Given the description of an element on the screen output the (x, y) to click on. 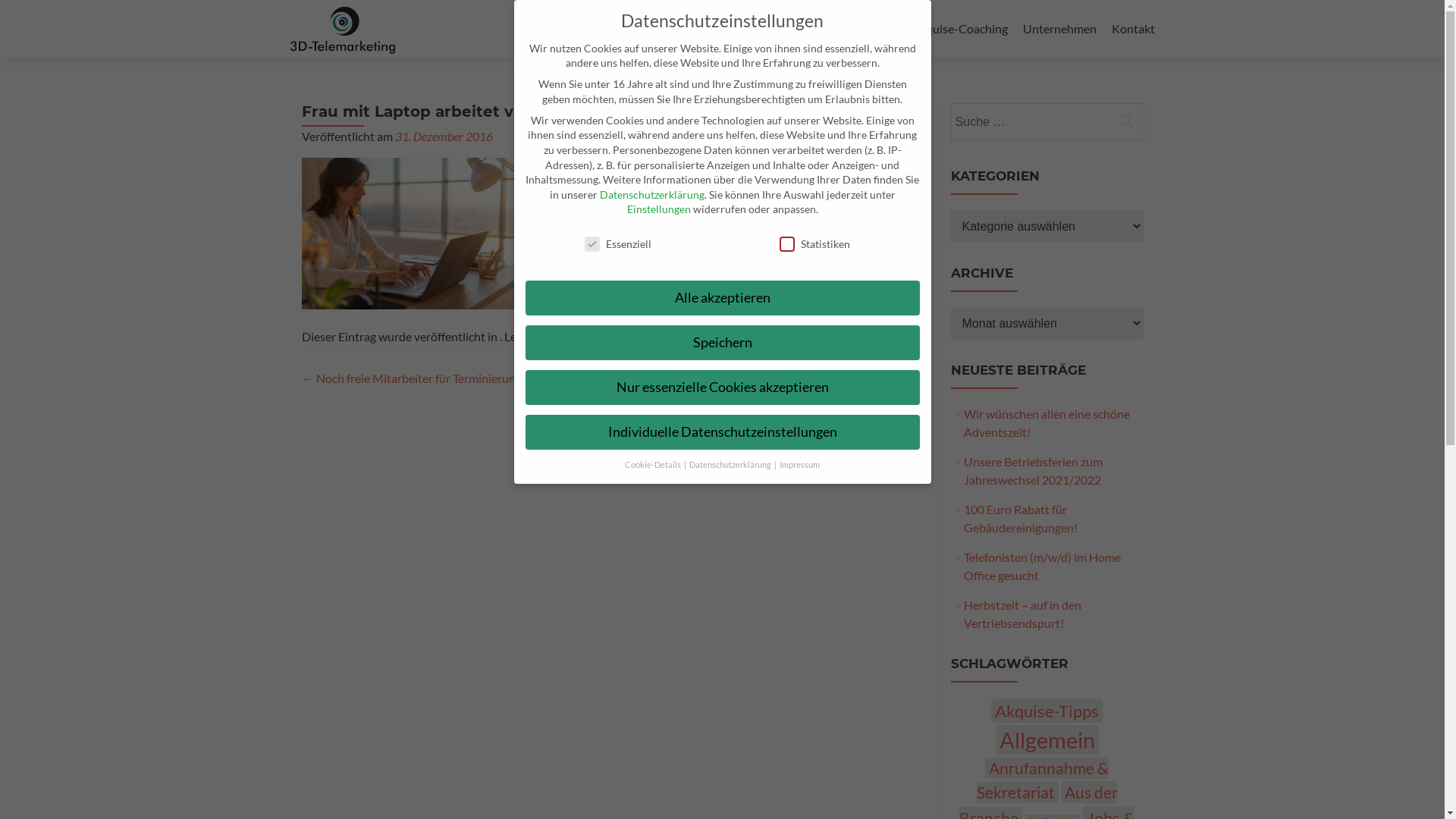
Unternehmen Element type: text (1058, 28)
Speichern Element type: text (721, 342)
Individuelle Datenschutzeinstellungen Element type: text (721, 431)
Impressum Element type: text (799, 464)
Cookie-Details Element type: text (653, 464)
Anrufannahme & Sekretariat Element type: text (1042, 780)
Telefonisten (m/w/d) im Home Office gesucht Element type: text (1041, 565)
Startseite Element type: text (563, 28)
Unsere Betriebsferien zum Jahreswechsel 2021/2022 Element type: text (1032, 470)
Akquise-Tipps Element type: text (1046, 710)
Alle akzeptieren Element type: text (721, 297)
Allgemein Element type: text (1046, 739)
Akquise-Coaching Element type: text (959, 28)
Nur essenzielle Cookies akzeptieren Element type: text (721, 387)
Suche Element type: text (1125, 120)
Rufannahme & Sekretariat Element type: text (826, 28)
31. Dezember 2016 Element type: text (443, 135)
Kontakt Element type: text (1132, 28)
Zum Inhalt springen Element type: text (6, 12)
Einstellungen Element type: text (658, 208)
Permanentlink Element type: text (645, 336)
